Given the description of an element on the screen output the (x, y) to click on. 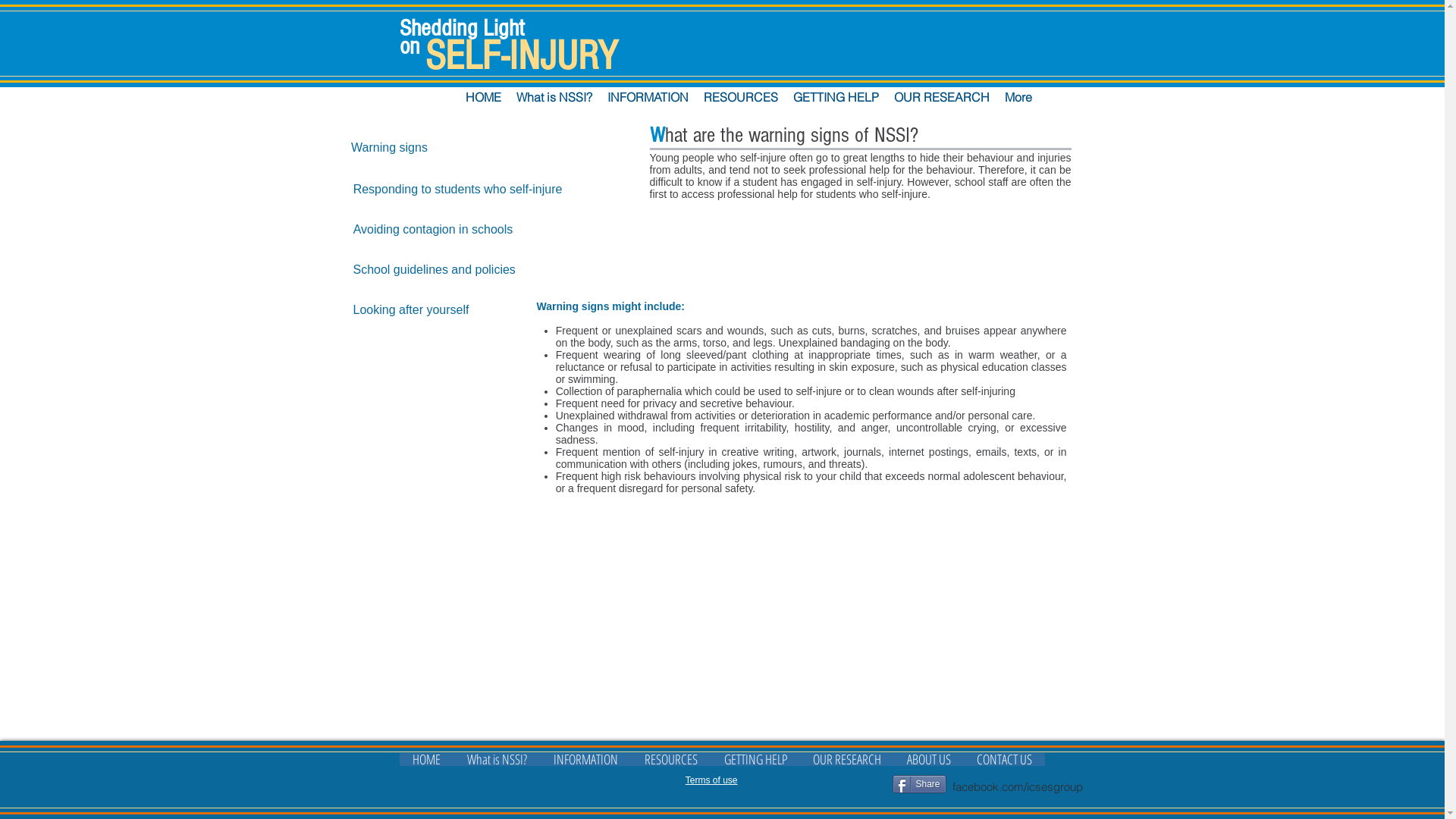
RESOURCES Element type: text (670, 759)
INFORMATION Element type: text (647, 96)
RESOURCES Element type: text (740, 96)
Responding to students who self-injure Element type: text (457, 189)
Terms of use Element type: text (711, 780)
OUR RESEARCH Element type: text (940, 96)
School guidelines and policies Element type: text (434, 269)
GETTING HELP Element type: text (755, 759)
GETTING HELP Element type: text (835, 96)
Share Element type: text (918, 784)
Warning signs Element type: text (388, 147)
HOME Element type: text (483, 96)
OUR RESEARCH Element type: text (846, 759)
What is NSSI? Element type: text (496, 759)
Avoiding contagion in schools Element type: text (433, 229)
Embedded Content Element type: hover (1111, 101)
CONTACT US Element type: text (1003, 759)
INFORMATION Element type: text (584, 759)
HOME Element type: text (425, 759)
ABOUT US Element type: text (928, 759)
Looking after yourself Element type: text (411, 309)
What is NSSI? Element type: text (553, 96)
